Given the description of an element on the screen output the (x, y) to click on. 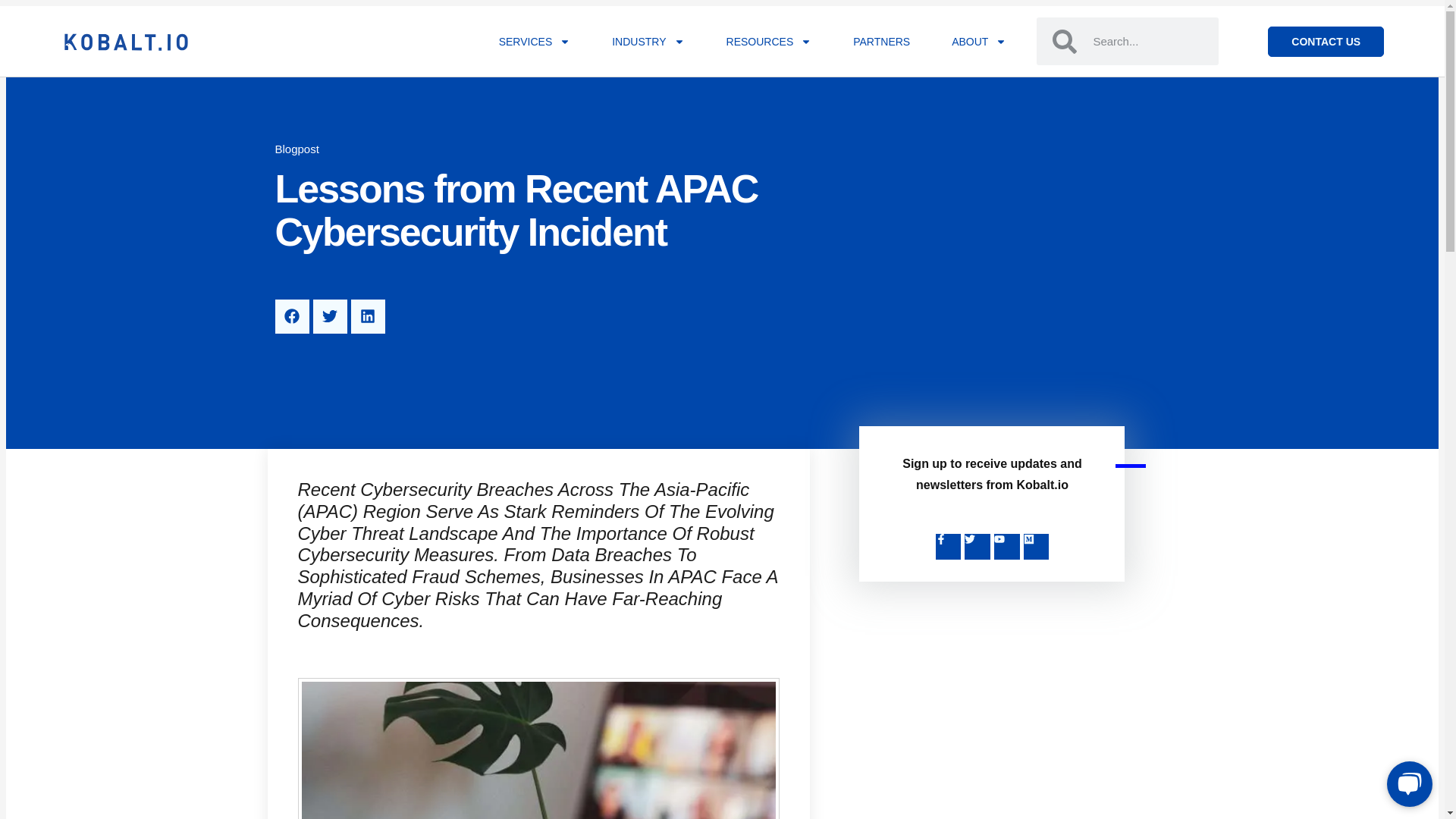
SERVICES (534, 41)
RESOURCES (769, 41)
INDUSTRY (647, 41)
ABOUT (979, 41)
PARTNERS (881, 41)
